Given the description of an element on the screen output the (x, y) to click on. 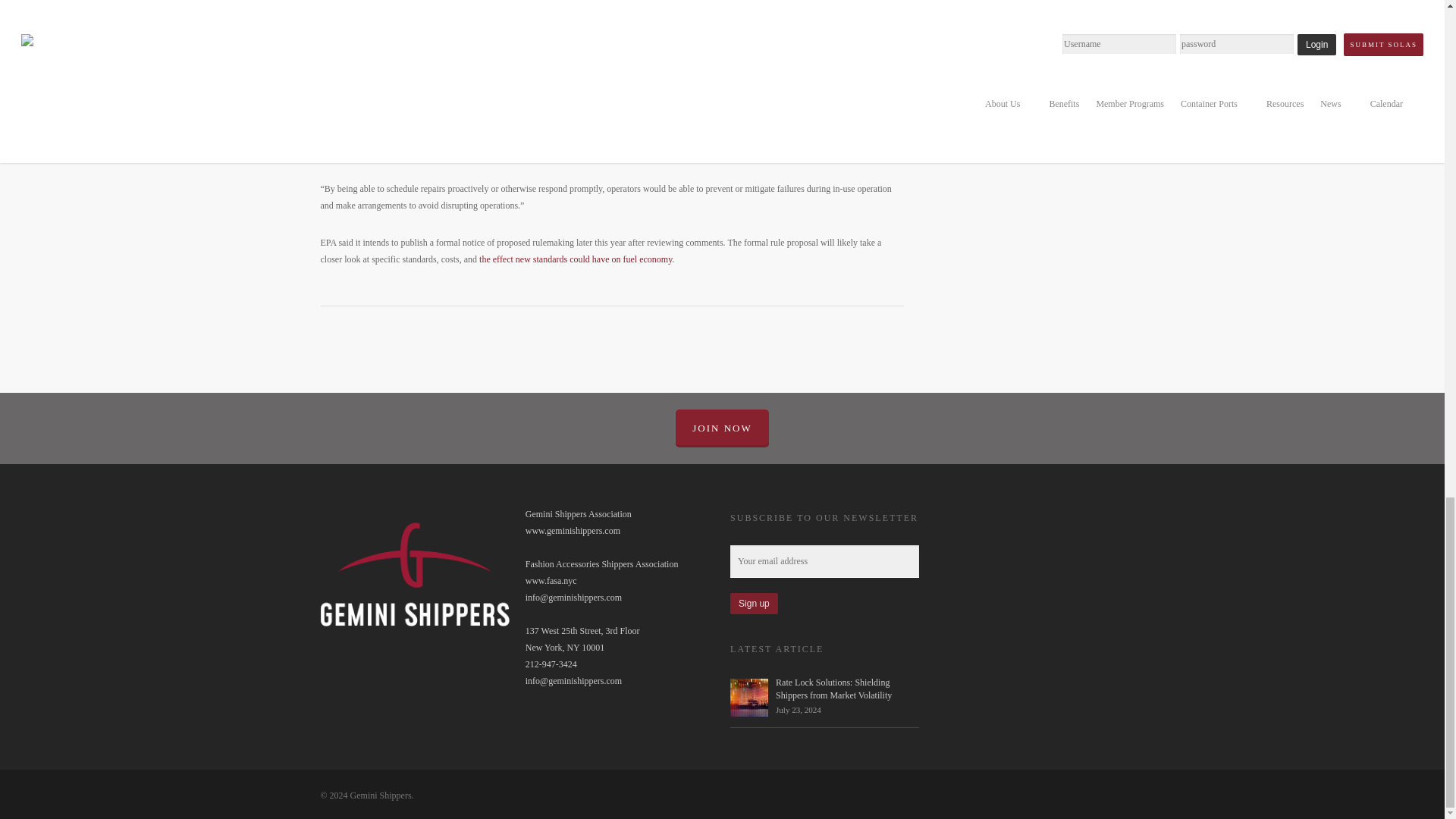
Sign up (753, 603)
